Given the description of an element on the screen output the (x, y) to click on. 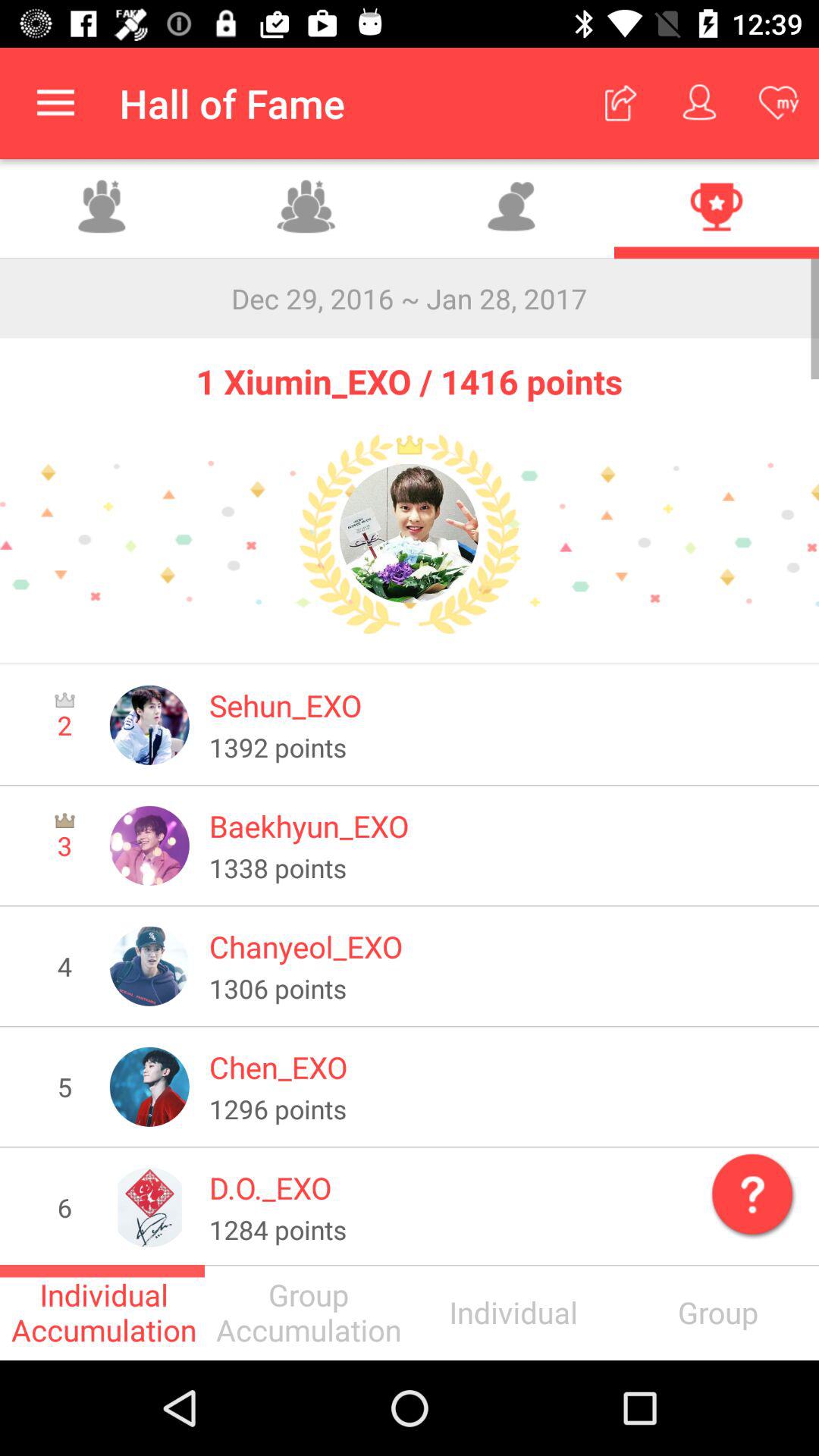
select like hall of fame window (511, 208)
